Given the description of an element on the screen output the (x, y) to click on. 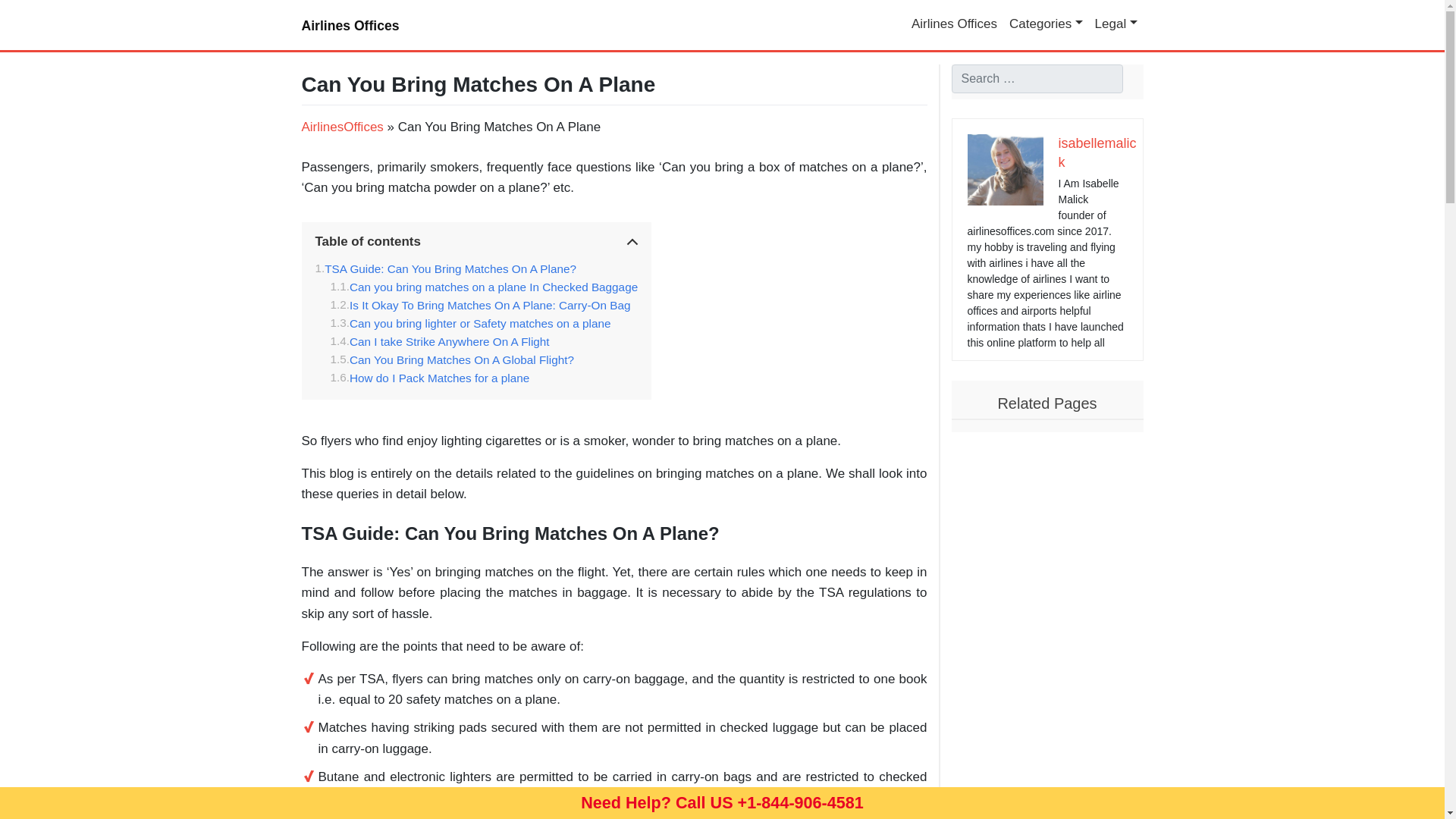
Categories (1046, 24)
Airlines Offices (954, 24)
Legal (1115, 24)
Legal (1115, 24)
Categories (1046, 24)
Airlines Offices (954, 24)
Search (29, 14)
